Given the description of an element on the screen output the (x, y) to click on. 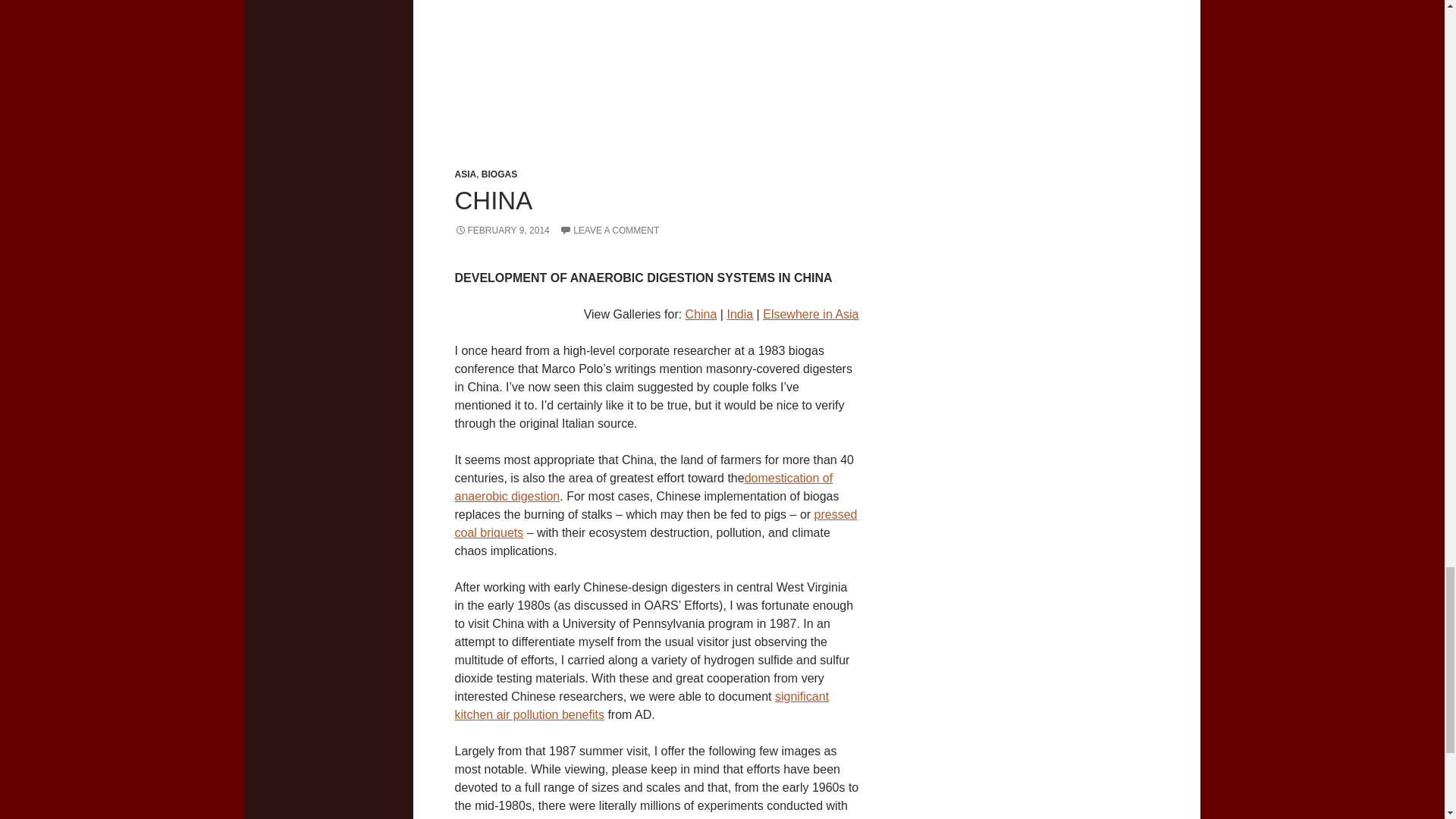
Elsewhere Gallery (810, 314)
Intro to Agricultural Systems (655, 522)
China Gallery (701, 314)
India Gallery (739, 314)
